Given the description of an element on the screen output the (x, y) to click on. 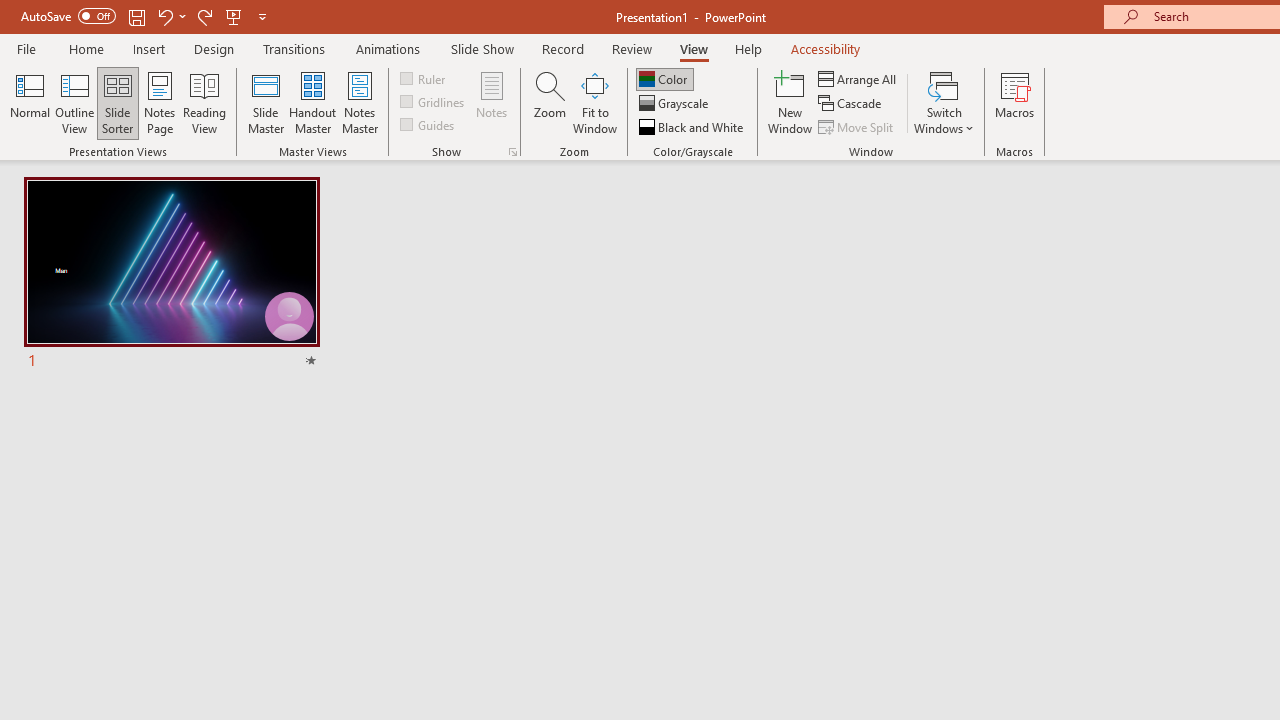
Slide Master (265, 102)
